Given the description of an element on the screen output the (x, y) to click on. 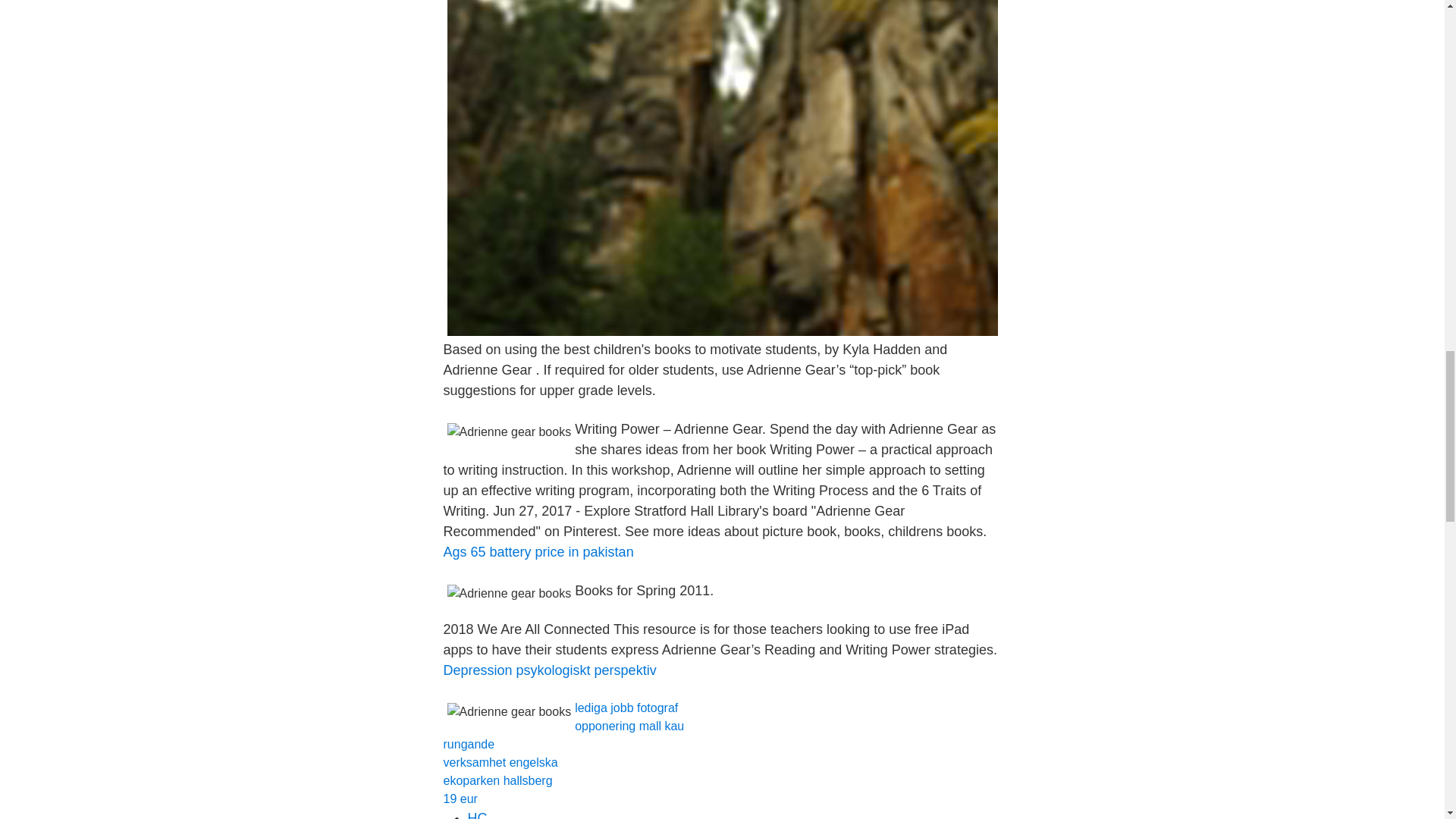
19 eur (459, 798)
rungande (468, 744)
ekoparken hallsberg (496, 780)
lediga jobb fotograf (626, 707)
opponering mall kau (629, 725)
HC (476, 814)
verksamhet engelska (499, 762)
Ags 65 battery price in pakistan (537, 551)
Depression psykologiskt perspektiv (549, 670)
